Given the description of an element on the screen output the (x, y) to click on. 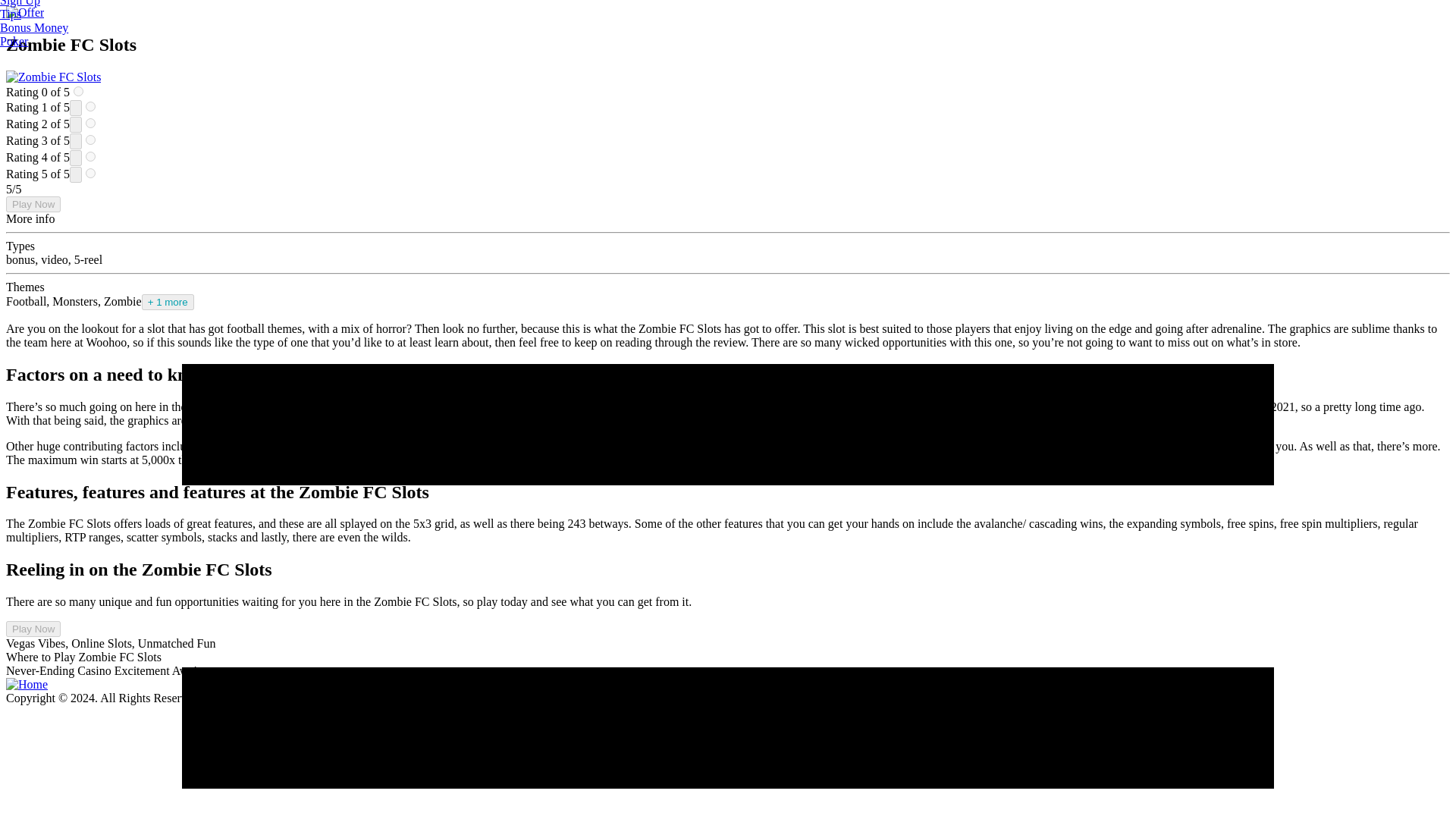
Play Now (33, 628)
3 (90, 139)
Play Now (33, 204)
1 (90, 106)
5 (90, 173)
4 (90, 156)
2 (90, 122)
0 (78, 91)
